Given the description of an element on the screen output the (x, y) to click on. 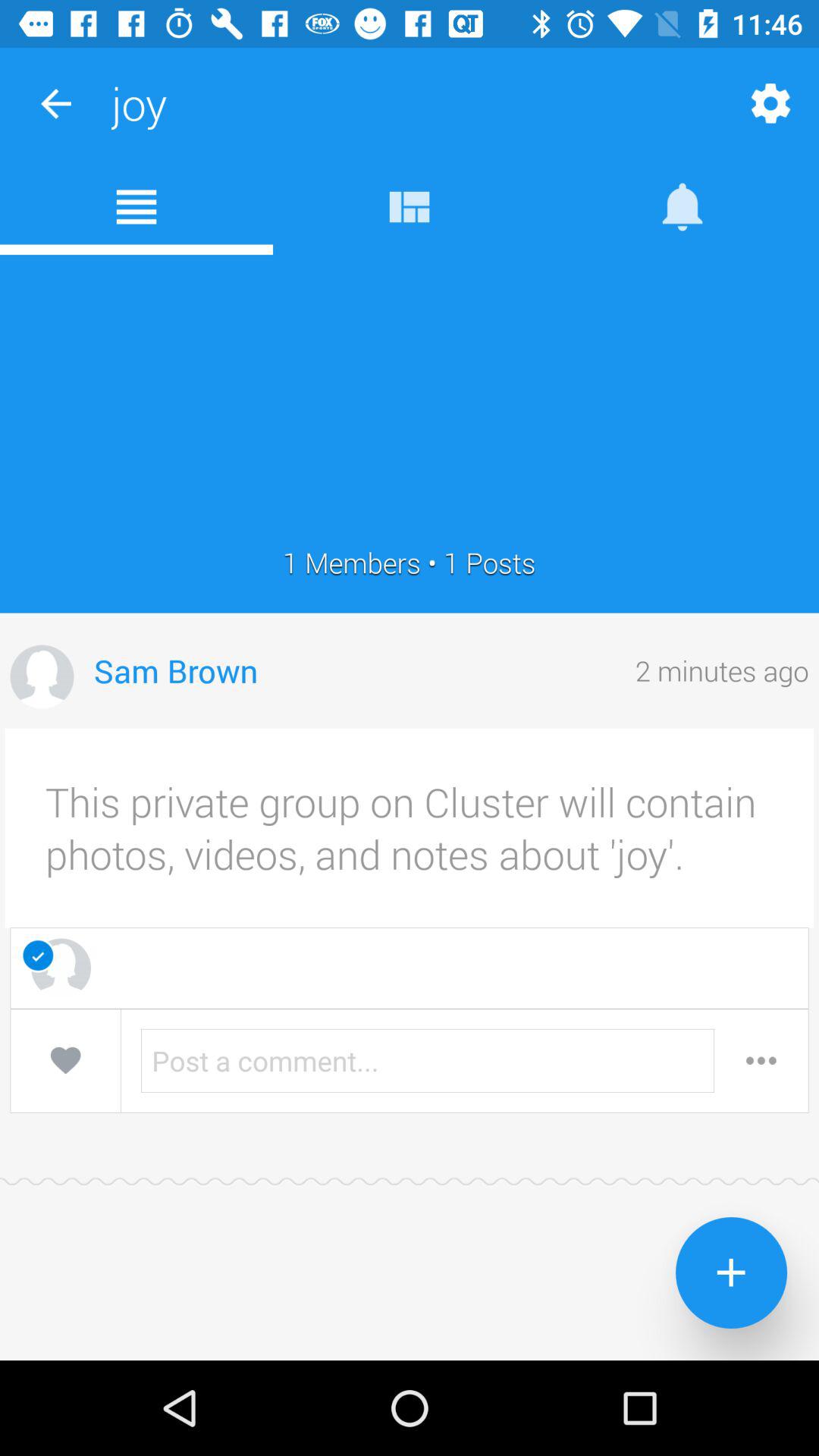
go to rating (65, 1060)
